Given the description of an element on the screen output the (x, y) to click on. 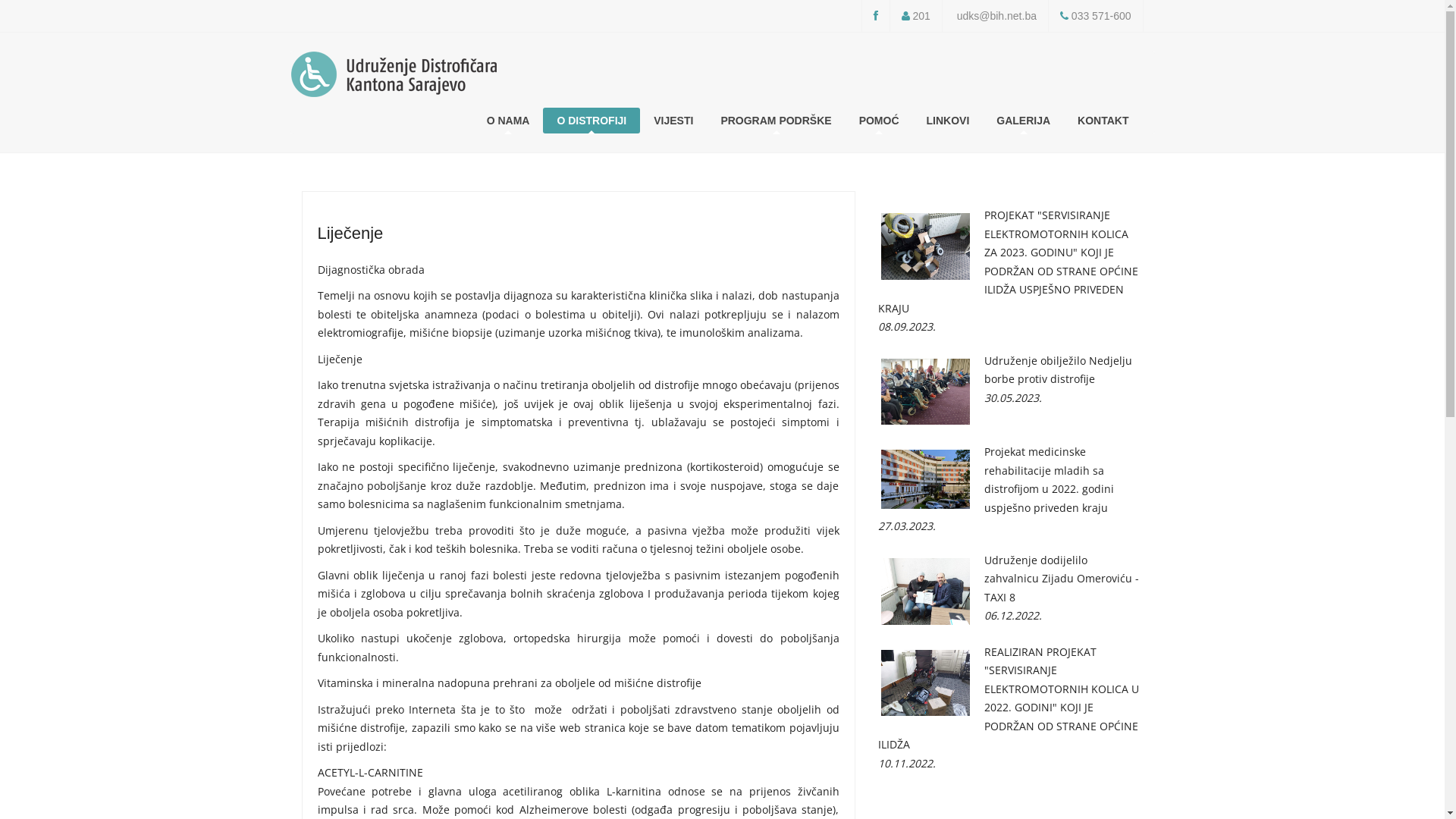
27.03.2023. Element type: text (1010, 526)
Facebook Element type: hover (875, 15)
KONTAKT Element type: text (1102, 120)
VIJESTI Element type: text (673, 120)
udks@bih.net.ba Element type: text (996, 15)
08.09.2023. Element type: text (1010, 326)
LINKOVI Element type: text (948, 120)
10.11.2022. Element type: text (1010, 763)
06.12.2022. Element type: text (1010, 615)
O DISTROFIJI Element type: text (591, 120)
GALERIJA Element type: text (1022, 120)
O NAMA Element type: text (508, 120)
201 Element type: text (920, 15)
30.05.2023. Element type: text (1010, 397)
